Given the description of an element on the screen output the (x, y) to click on. 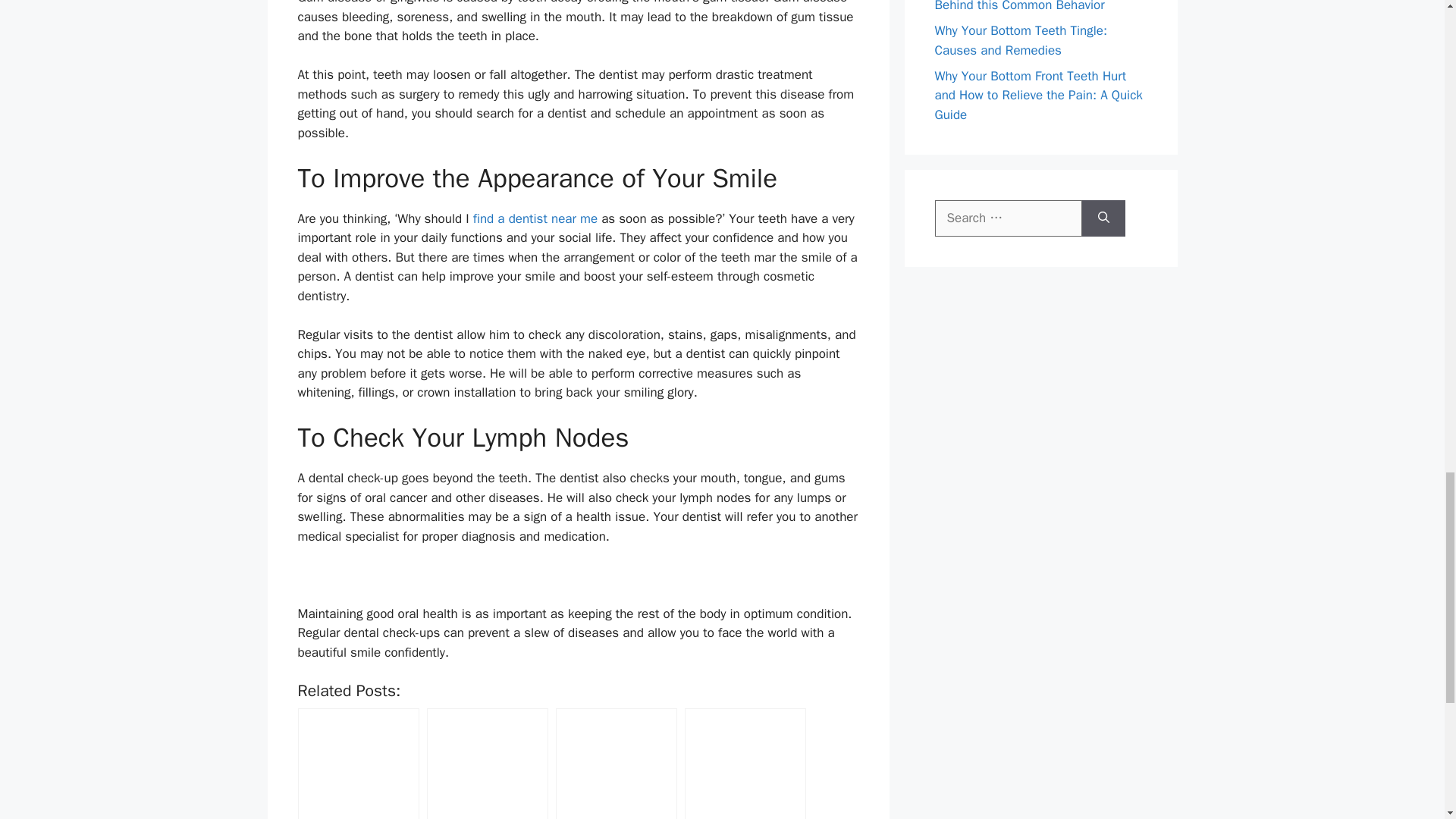
An Ultimate Guide to Maintain Oral Hygiene for Brace Wearers (745, 763)
Dental Hygiene Instruments Used For Oral Health Cleanings (487, 763)
Different Toothpaste for Different Type Teeth (616, 763)
